Given the description of an element on the screen output the (x, y) to click on. 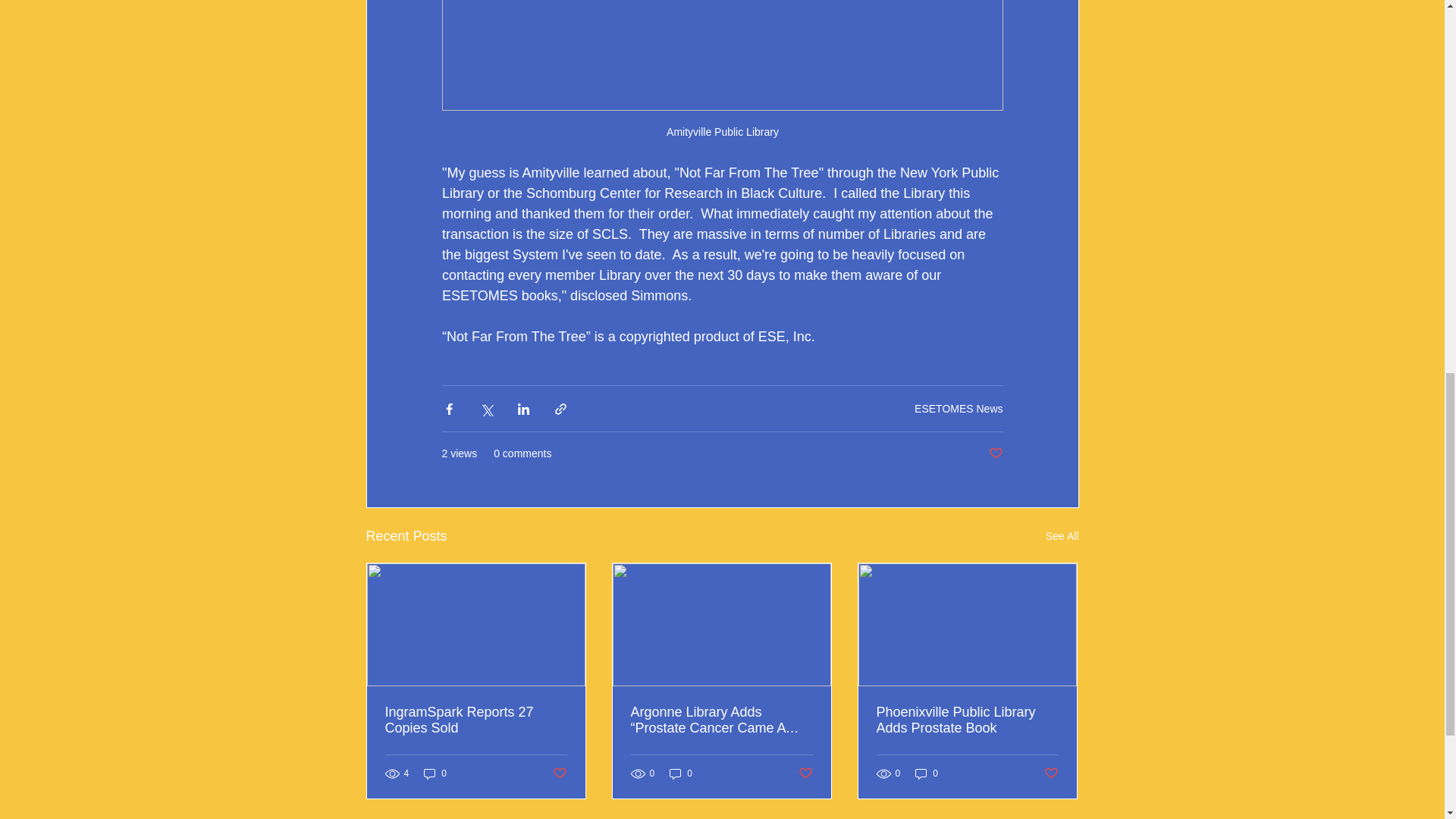
Post not marked as liked (995, 453)
See All (1061, 536)
Post not marked as liked (558, 773)
IngramSpark Reports 27 Copies Sold (476, 720)
0 (435, 773)
ESETOMES News (958, 408)
